Given the description of an element on the screen output the (x, y) to click on. 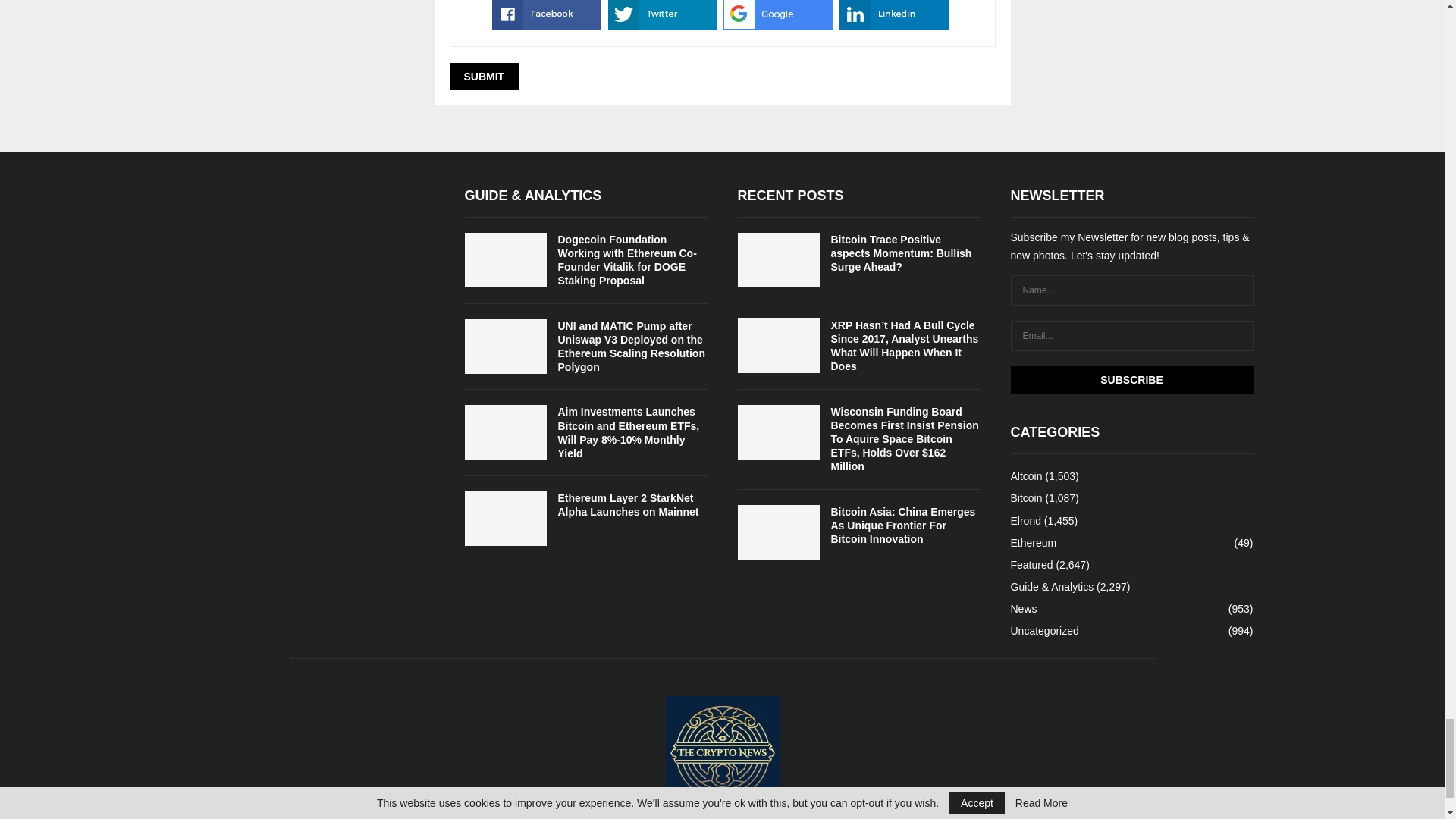
Subscribe (1131, 379)
Submit (483, 75)
